Given the description of an element on the screen output the (x, y) to click on. 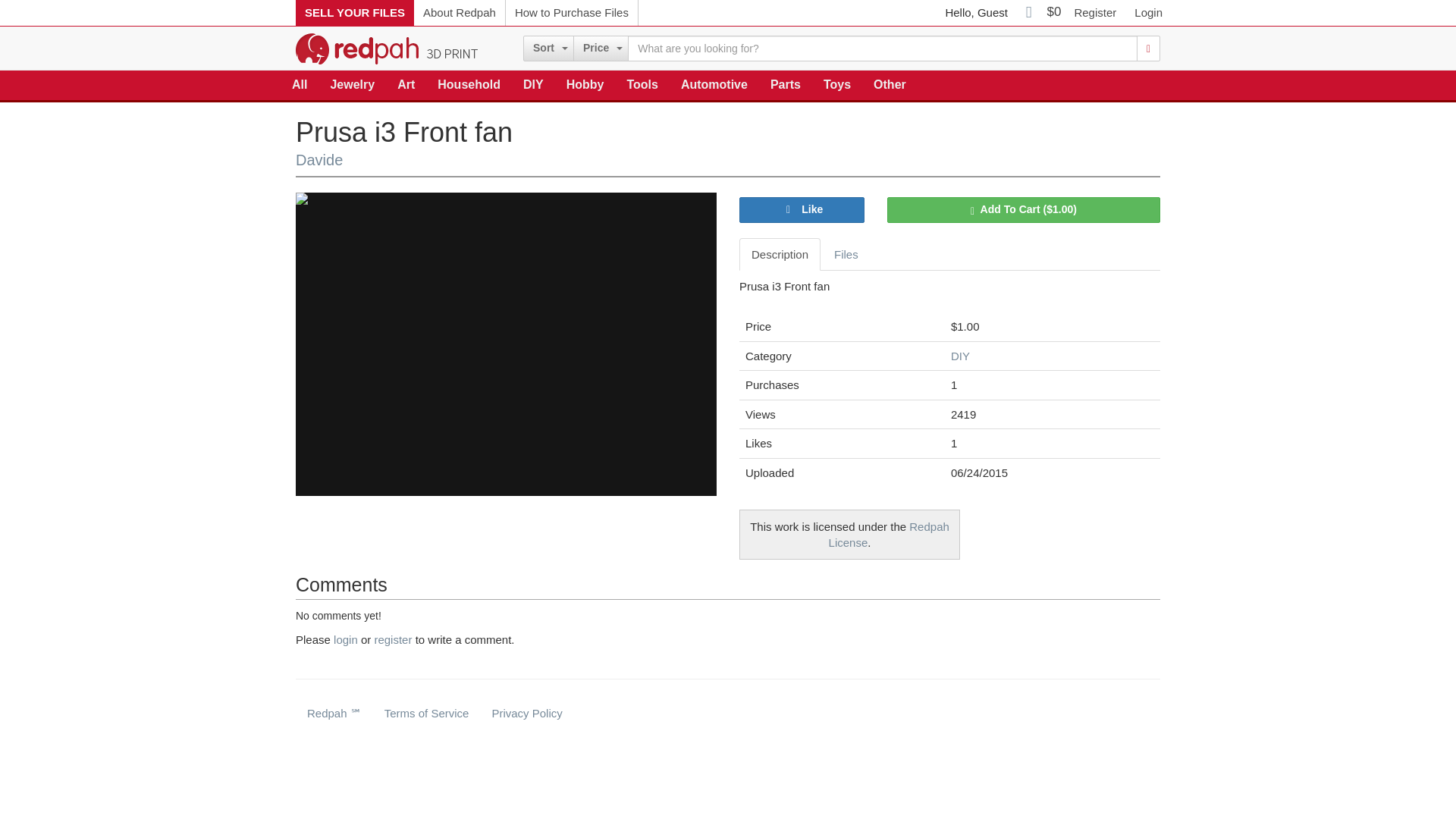
Art (405, 85)
How to Purchase Files (572, 12)
Login (1148, 12)
Other (889, 85)
Sort (547, 48)
SELL YOUR FILES (354, 12)
Tools (641, 85)
All (299, 85)
Parts (785, 85)
Price (600, 48)
Toys (836, 85)
Jewelry (351, 85)
Hobby (584, 85)
About Redpah (459, 12)
DIY (533, 85)
